Given the description of an element on the screen output the (x, y) to click on. 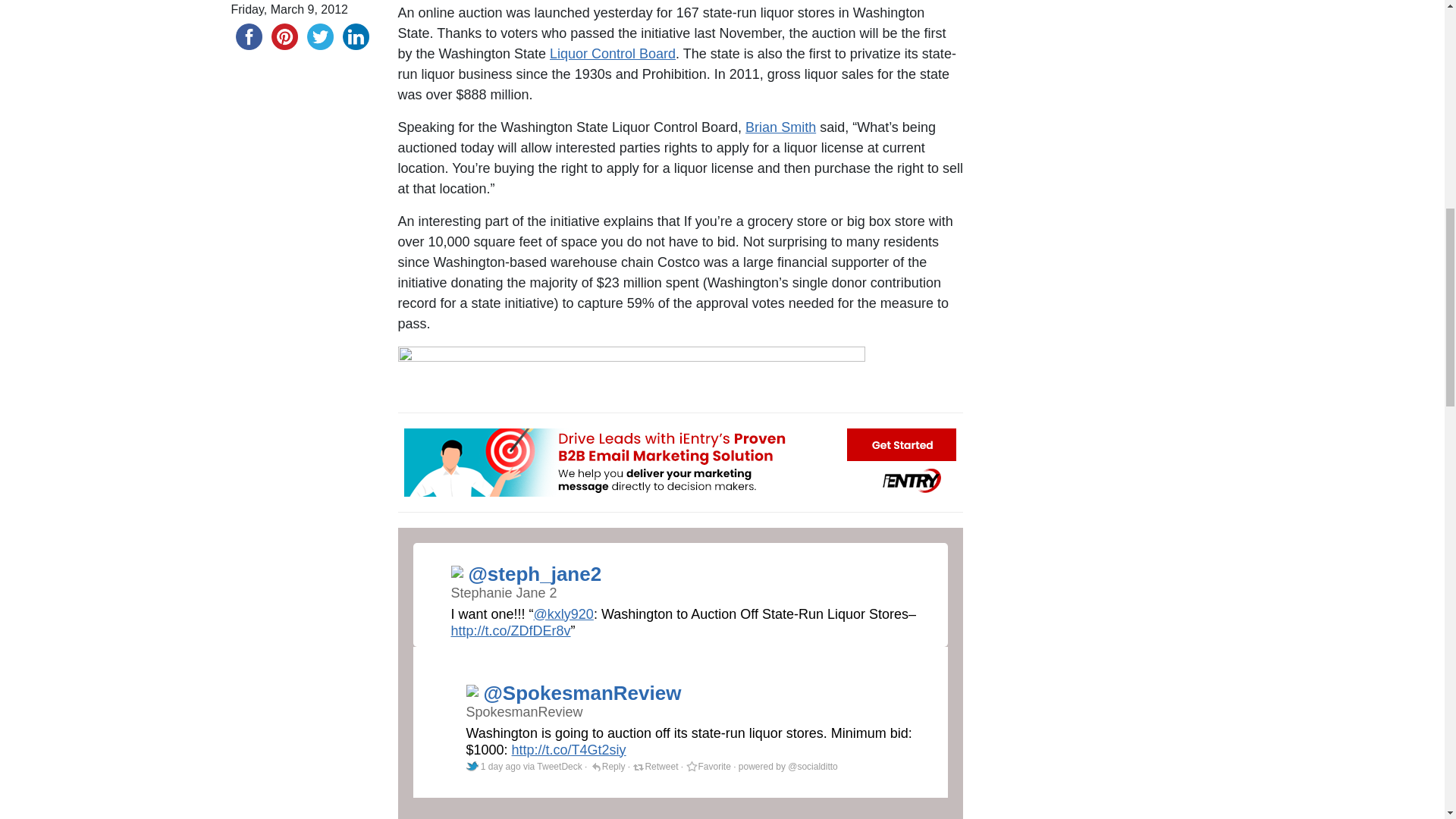
pinterest (284, 36)
twitter (319, 36)
linkedin (355, 36)
facebook (248, 36)
cosco comment (630, 372)
